Given the description of an element on the screen output the (x, y) to click on. 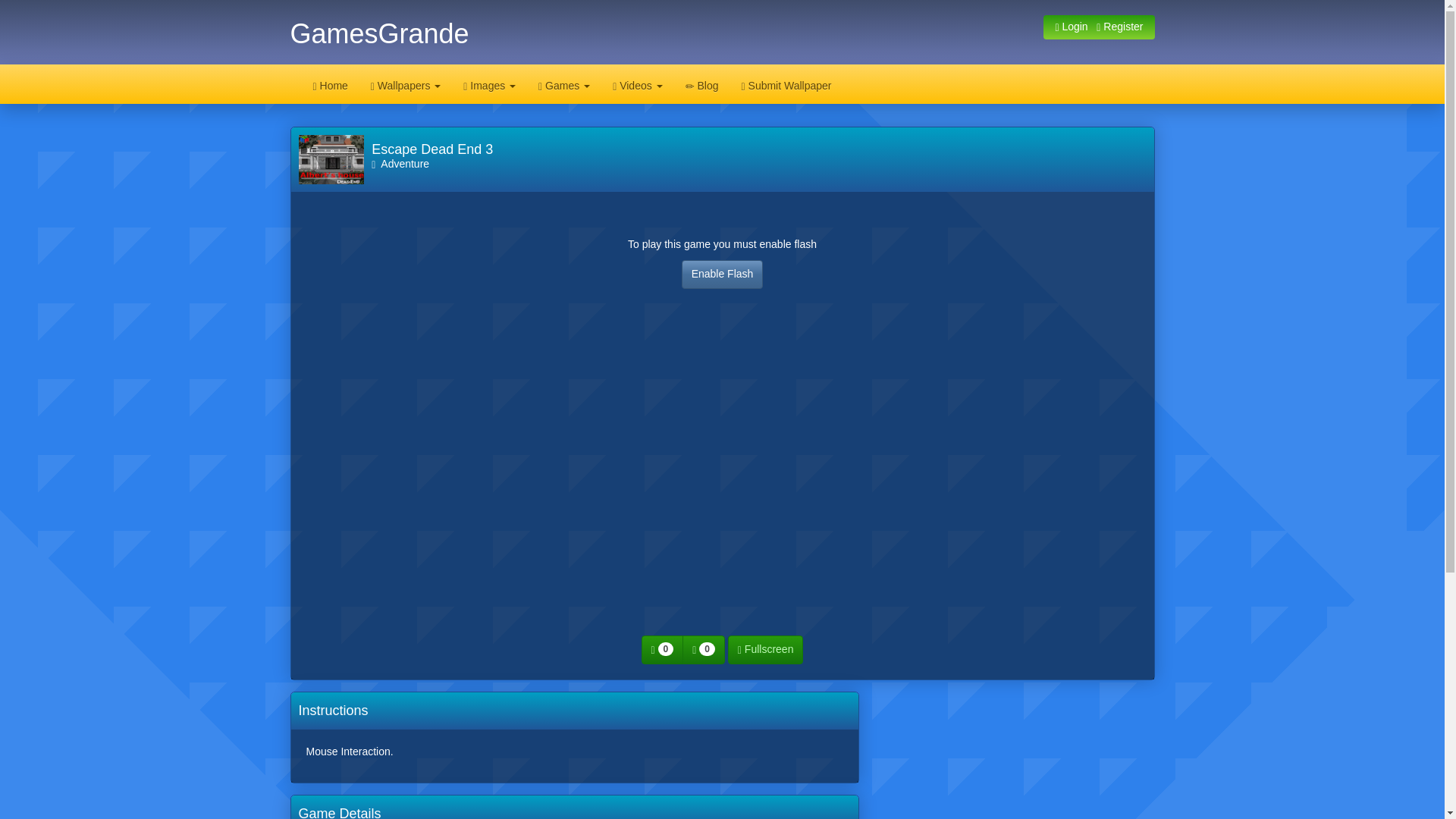
GamesGrande (378, 33)
Videos (636, 84)
Login (1070, 26)
Home (330, 84)
Enable Flash (721, 274)
 Adventure (400, 163)
Submit Wallpaper (786, 84)
Fullscreen (765, 649)
0 (663, 649)
Blog (702, 84)
Images (489, 84)
Games (564, 84)
0 (703, 649)
Wallpapers (405, 84)
Register (1119, 26)
